Given the description of an element on the screen output the (x, y) to click on. 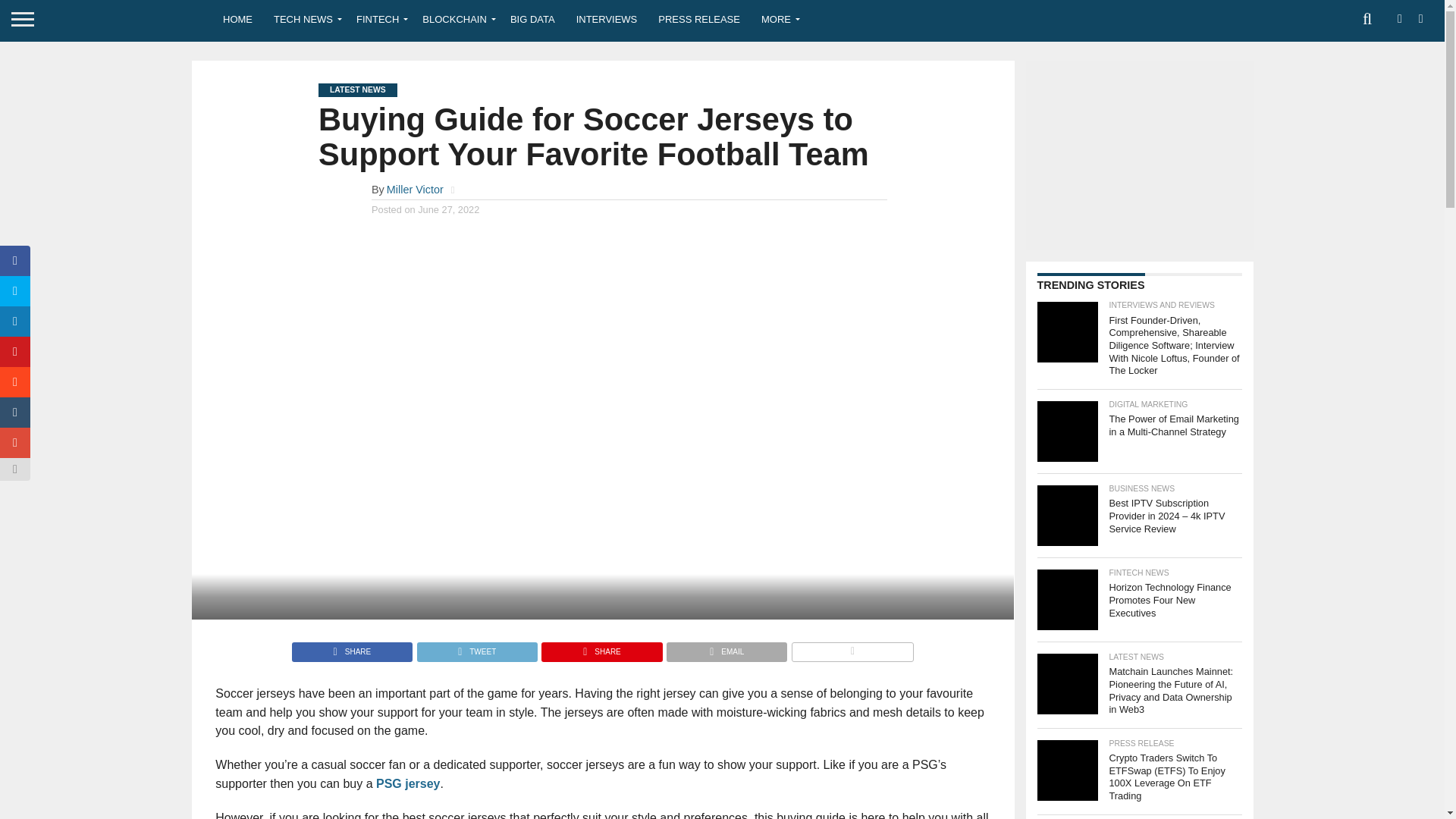
Share on Facebook (352, 647)
Pin This Post (601, 647)
Posts by Miller Victor (415, 189)
Tweet This Post (476, 647)
